Given the description of an element on the screen output the (x, y) to click on. 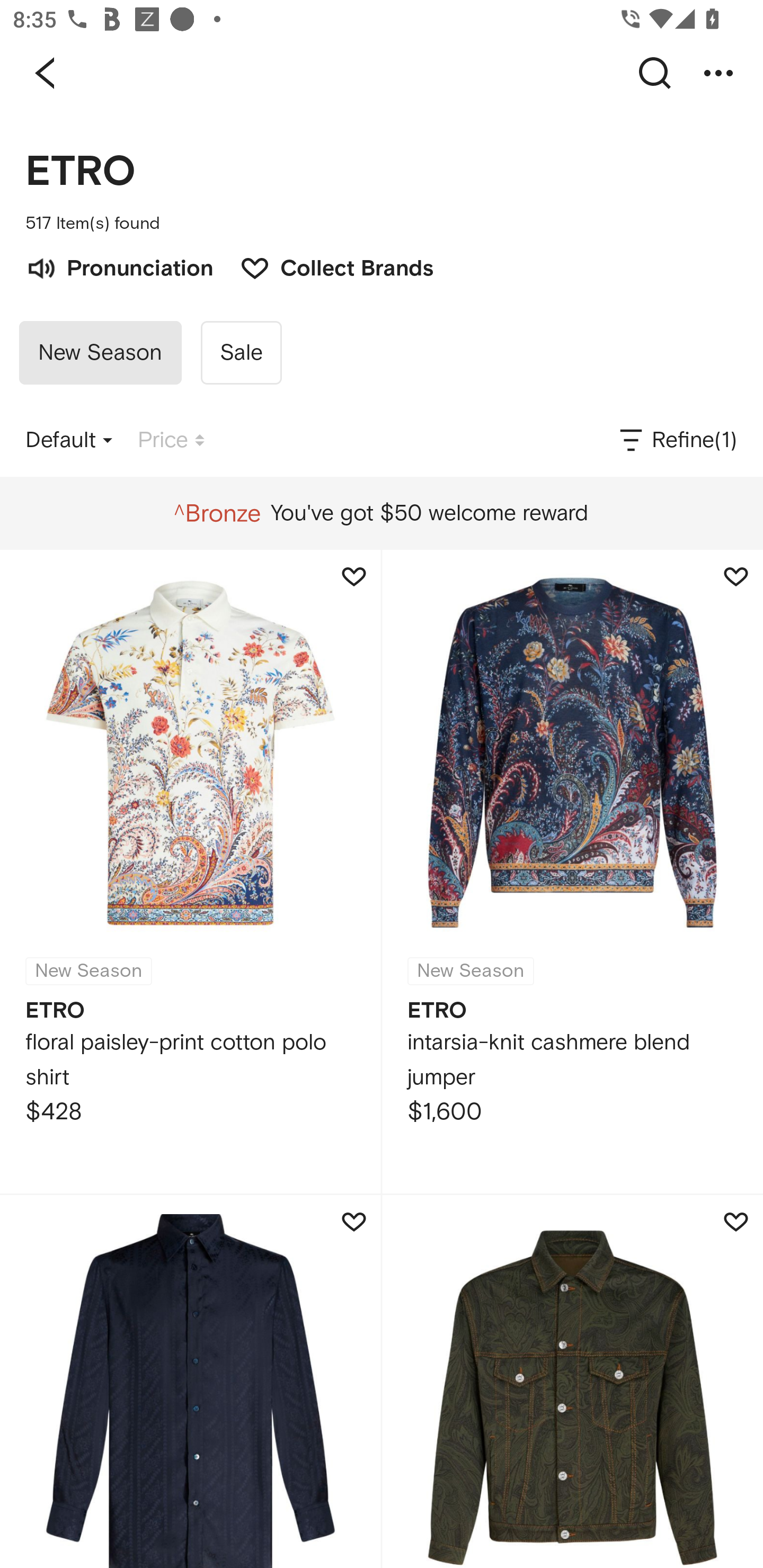
Pronunciation (119, 266)
Collect Brands (327, 266)
New Season (100, 352)
Sale (240, 352)
Default (68, 440)
Price (171, 440)
Refine(1) (677, 440)
You've got $50 welcome reward (381, 513)
